Given the description of an element on the screen output the (x, y) to click on. 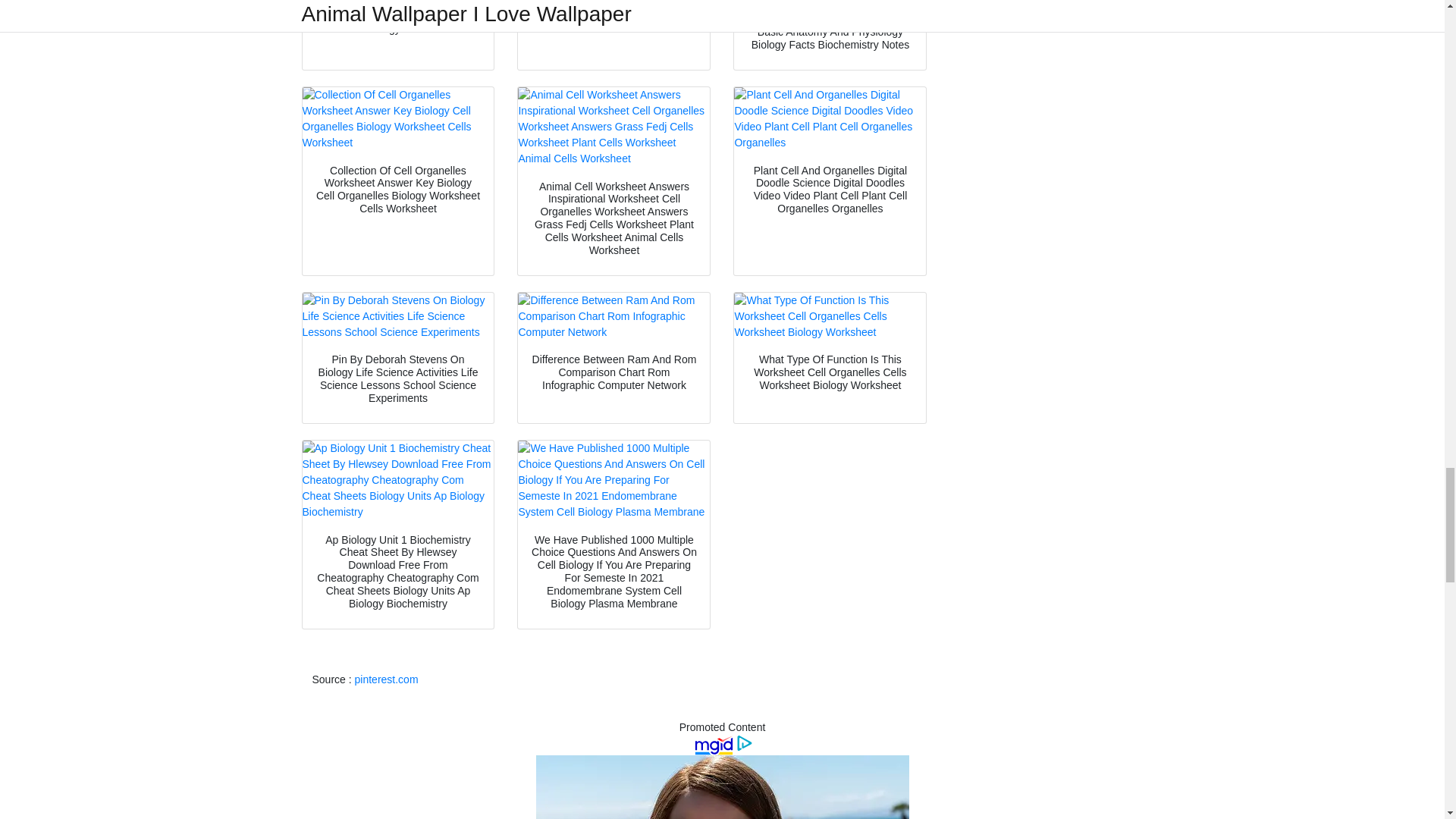
pinterest.com (387, 679)
